Given the description of an element on the screen output the (x, y) to click on. 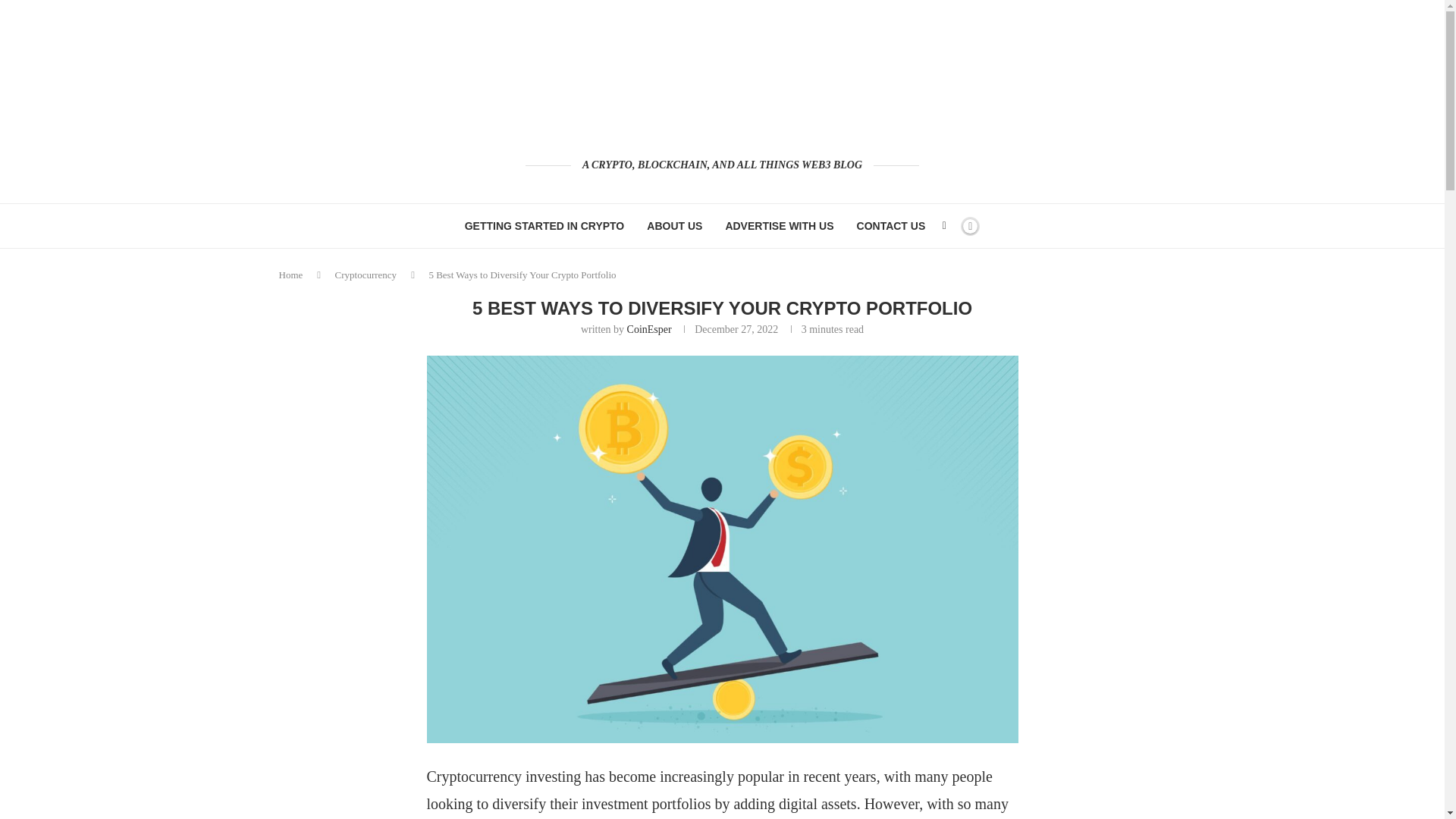
Home (290, 274)
GETTING STARTED IN CRYPTO (544, 225)
Cryptocurrency (365, 274)
ABOUT US (673, 225)
ADVERTISE WITH US (778, 225)
CONTACT US (891, 225)
CoinEsper (649, 328)
